Given the description of an element on the screen output the (x, y) to click on. 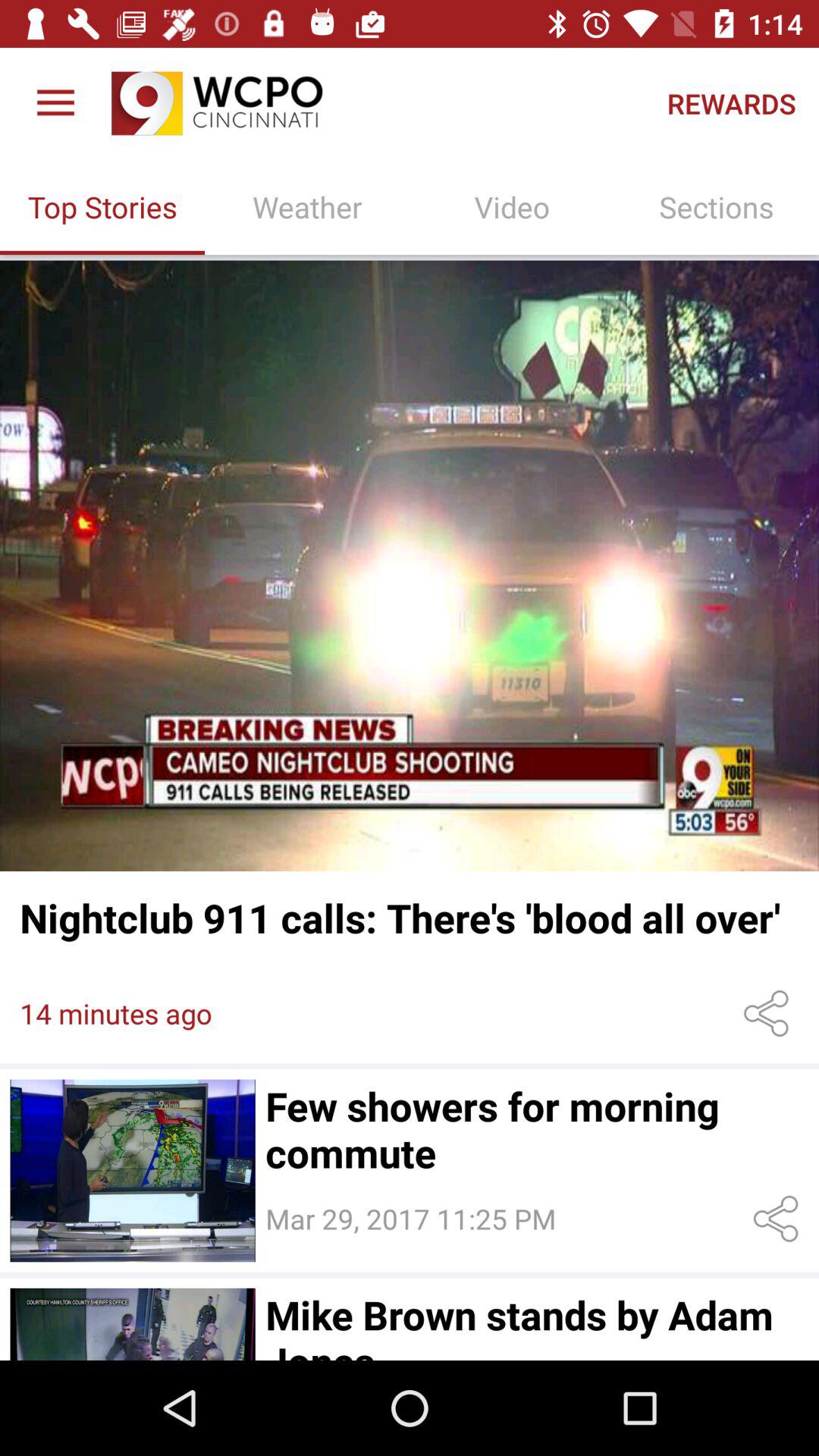
share article (769, 1013)
